Given the description of an element on the screen output the (x, y) to click on. 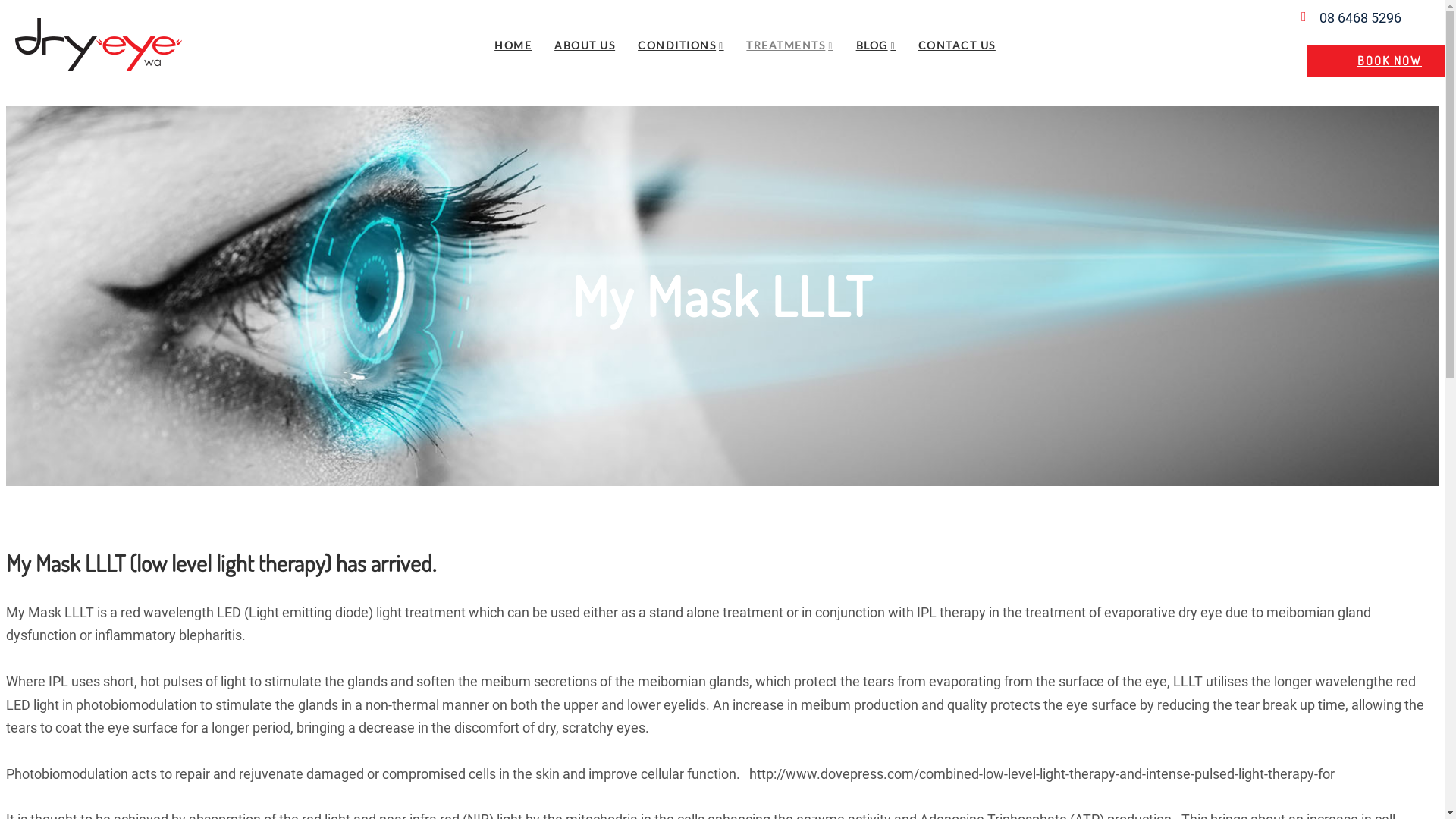
CONDITIONS Element type: text (680, 45)
CONTACT US Element type: text (956, 44)
HOME Element type: text (512, 44)
TREATMENTS Element type: text (789, 45)
ABOUT US Element type: text (584, 44)
BLOG Element type: text (875, 45)
08 6468 5296 Element type: text (1360, 17)
